Given the description of an element on the screen output the (x, y) to click on. 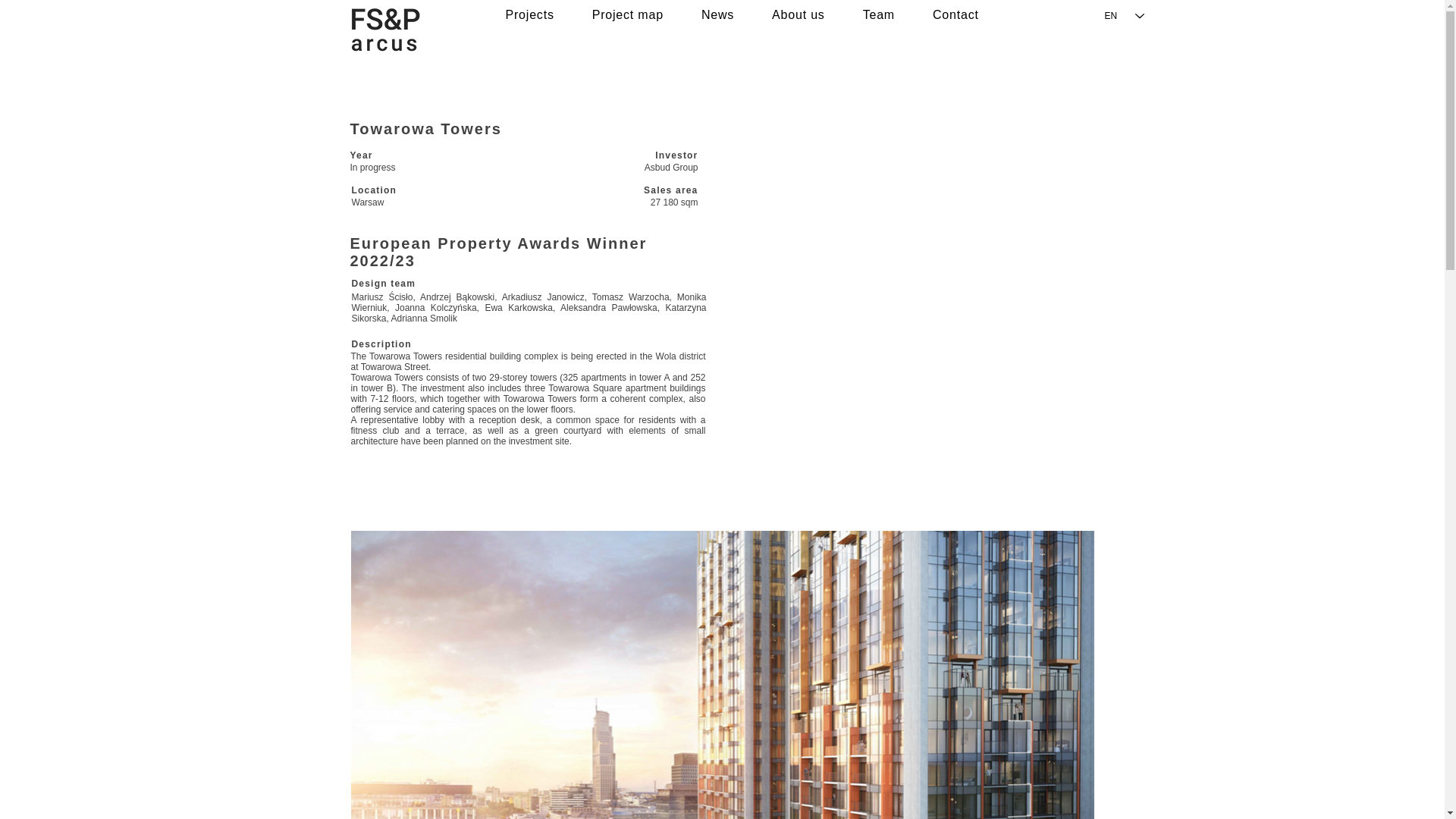
News (717, 15)
Contact (955, 15)
Team (879, 15)
About us (798, 15)
